Given the description of an element on the screen output the (x, y) to click on. 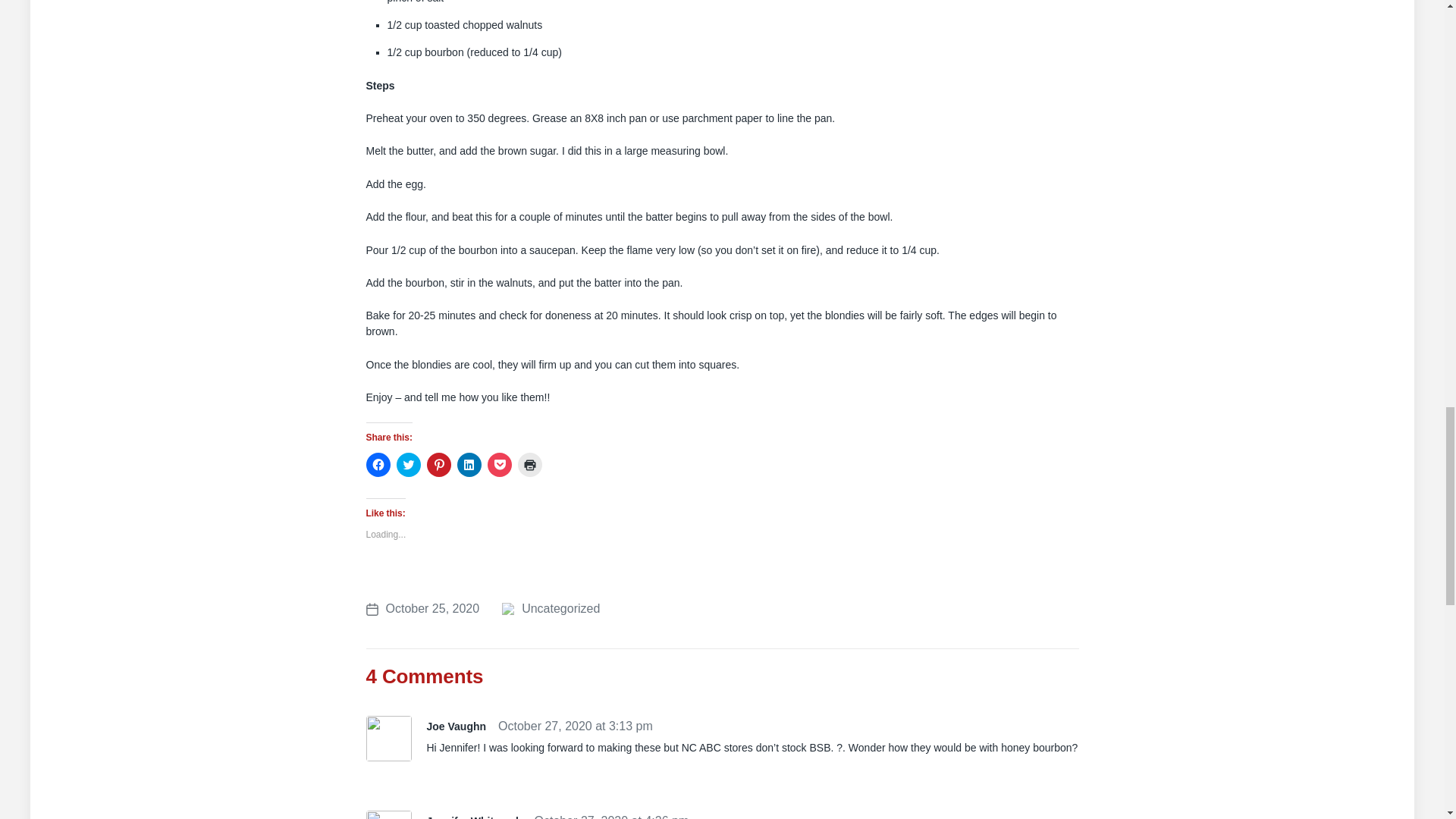
Click to share on LinkedIn (468, 464)
October 27, 2020 at 3:13 pm (574, 726)
Jennifer Whitcomb (473, 816)
Click to share on Pocket (498, 464)
Uncategorized (560, 608)
October 27, 2020 at 4:26 pm (611, 816)
October 25, 2020 (422, 608)
Click to share on Pinterest (437, 464)
Click to share on Twitter (408, 464)
Bourbon Brown Sugar Blondies (422, 608)
